Given the description of an element on the screen output the (x, y) to click on. 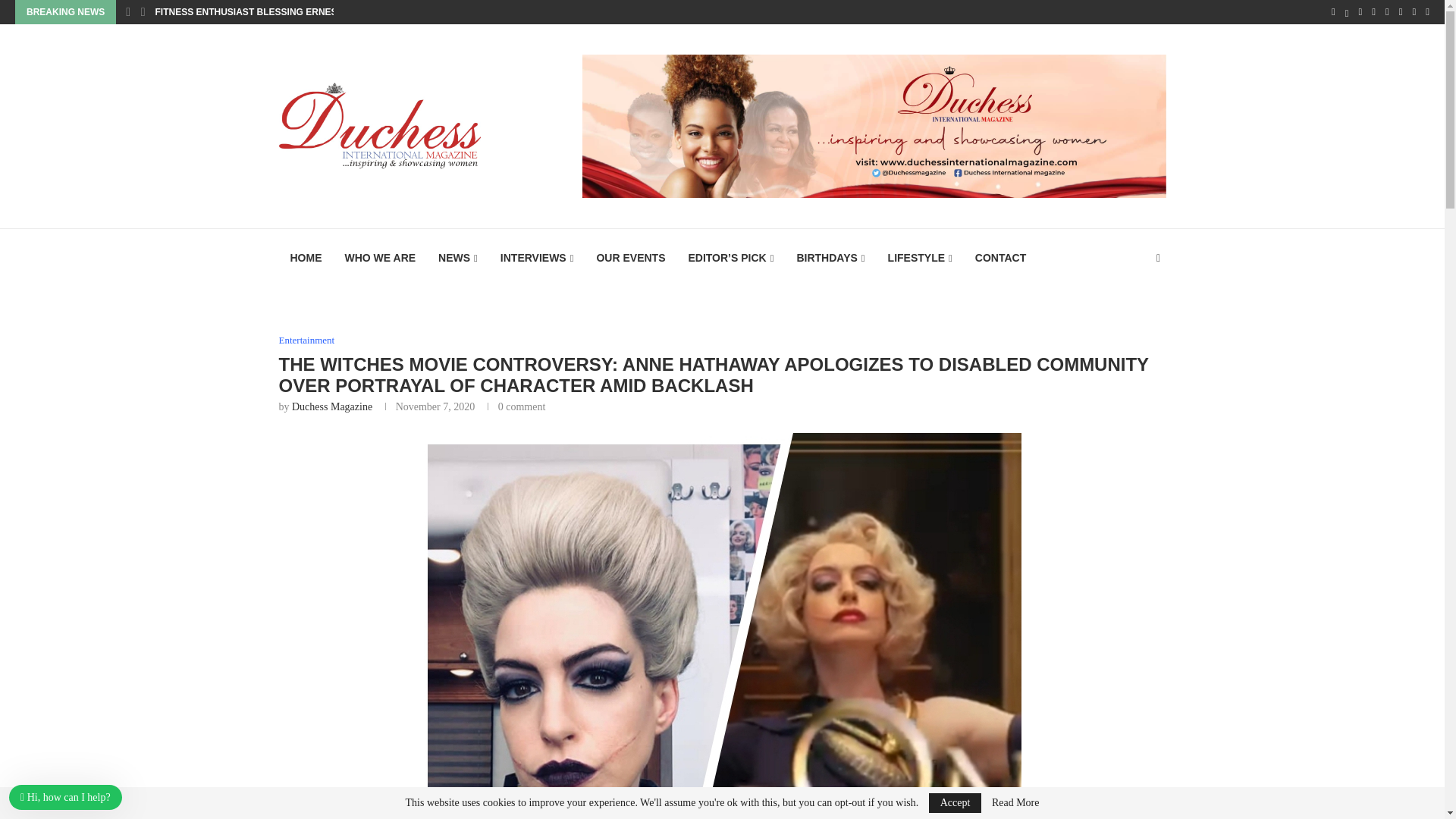
HOME (306, 258)
